Given the description of an element on the screen output the (x, y) to click on. 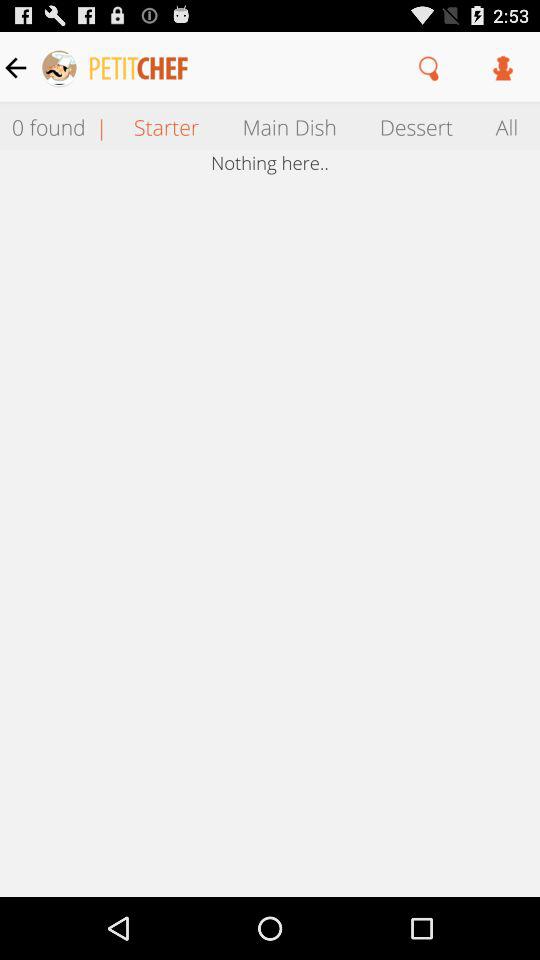
select the item above the dessert icon (429, 67)
